Given the description of an element on the screen output the (x, y) to click on. 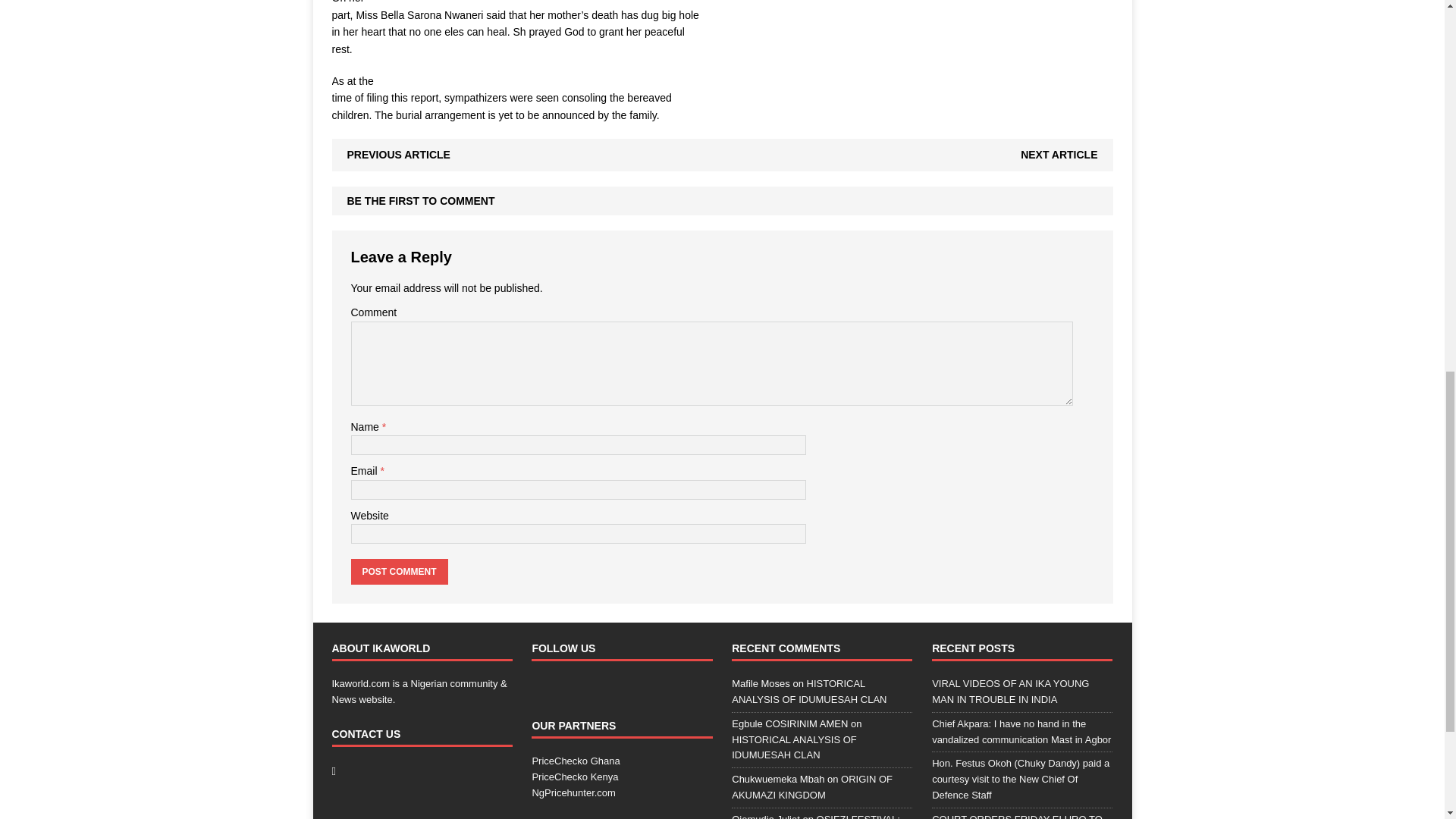
PREVIOUS ARTICLE (398, 154)
Post Comment (398, 571)
ORIGIN OF AKUMAZI KINGDOM (812, 786)
HISTORICAL ANALYSIS OF IDUMUESAH CLAN (809, 691)
HISTORICAL ANALYSIS OF IDUMUESAH CLAN (794, 747)
Ojemudia Juliet (765, 816)
NEXT ARTICLE (1058, 154)
PriceChecko Ghana (575, 760)
PriceChecko Kenya (574, 776)
OSIEZI FESTIVAL; THE FOUNDATION OF AGBOR CULTURAL HERITAGE (815, 816)
